Given the description of an element on the screen output the (x, y) to click on. 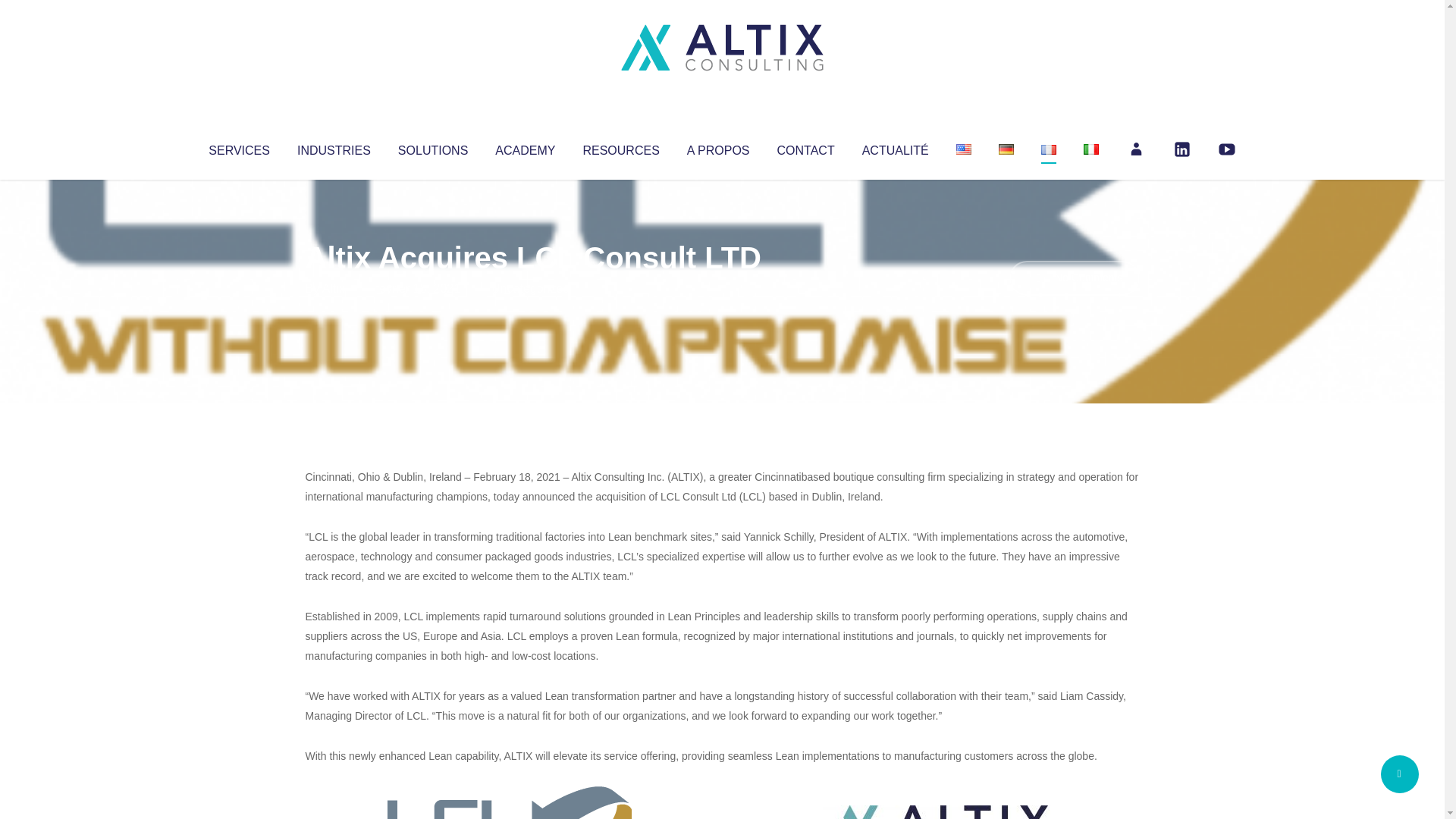
SOLUTIONS (432, 146)
A PROPOS (718, 146)
SERVICES (238, 146)
INDUSTRIES (334, 146)
No Comments (1073, 278)
ACADEMY (524, 146)
RESOURCES (620, 146)
Altix (333, 287)
Articles par Altix (333, 287)
Uncategorized (530, 287)
